Given the description of an element on the screen output the (x, y) to click on. 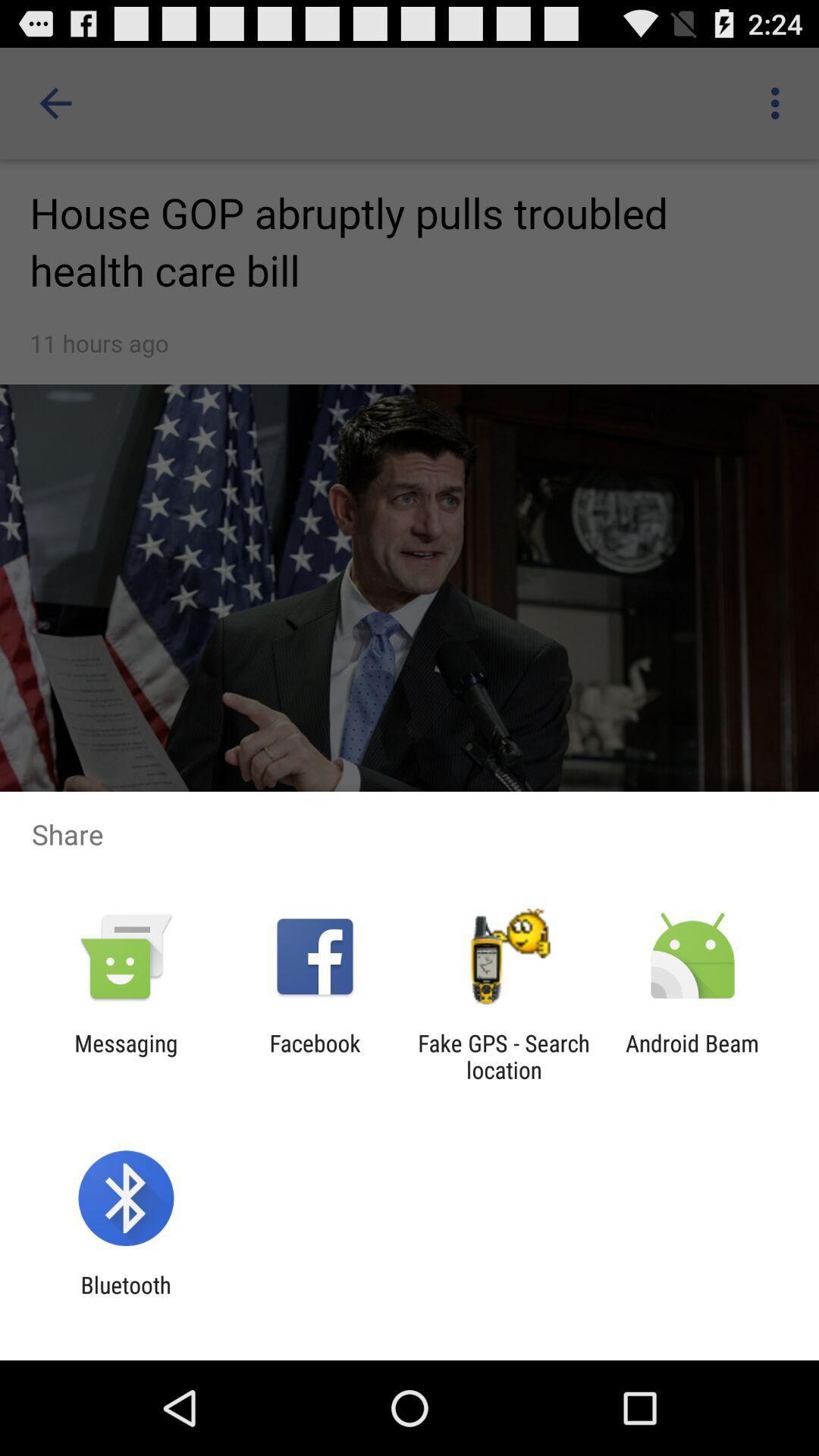
press icon to the left of facebook icon (126, 1056)
